Given the description of an element on the screen output the (x, y) to click on. 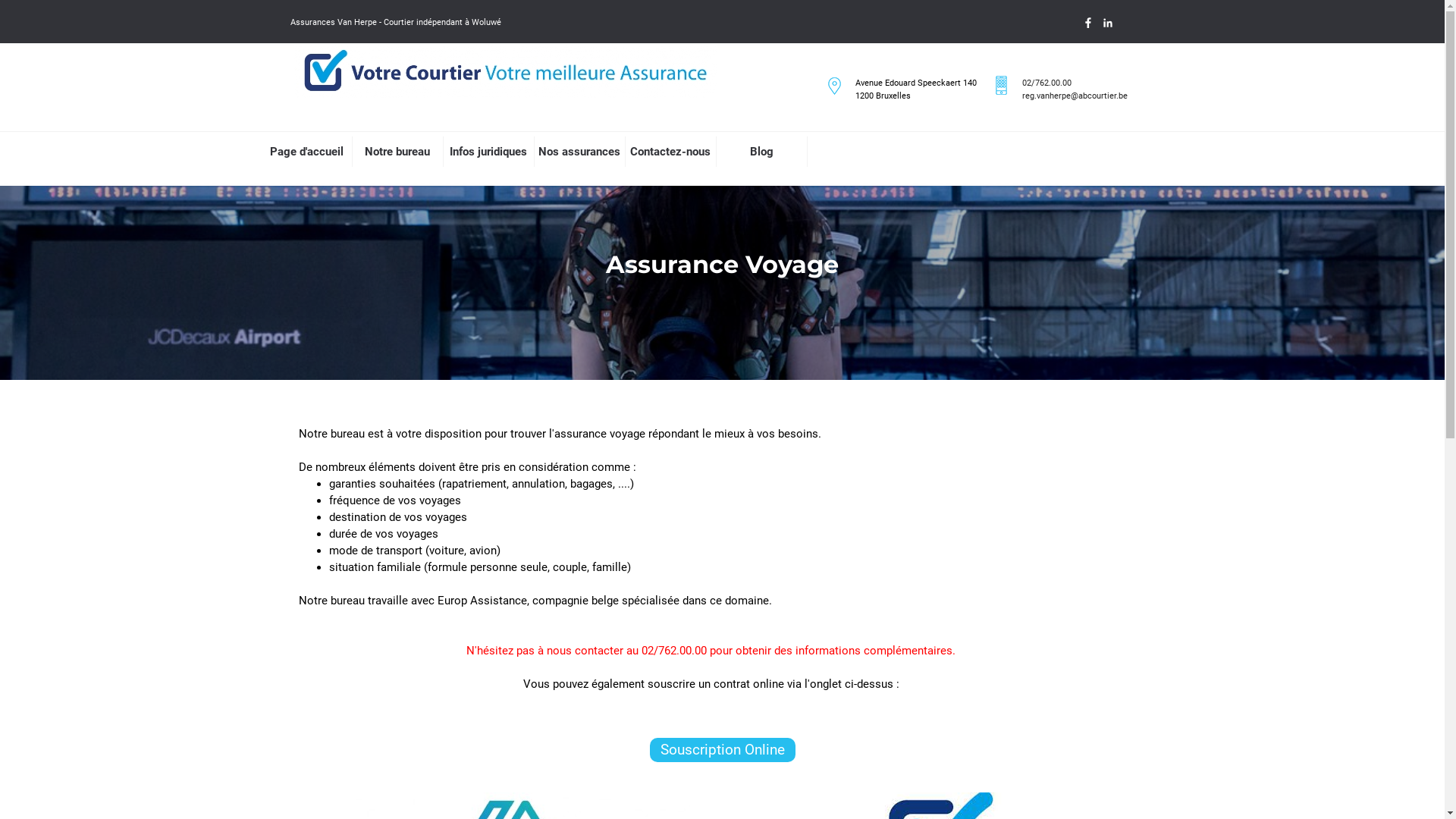
Souscription Online Element type: text (721, 749)
Contactez-nous Element type: text (669, 151)
Notre bureau Element type: text (396, 151)
Page d'accueil Element type: text (305, 151)
Infos juridiques Element type: text (487, 151)
Blog Element type: text (760, 151)
Nos assurances Element type: text (578, 151)
reg.vanherpe@abcourtier.be Element type: text (1074, 95)
02/762.00.00 Element type: text (1046, 82)
